Given the description of an element on the screen output the (x, y) to click on. 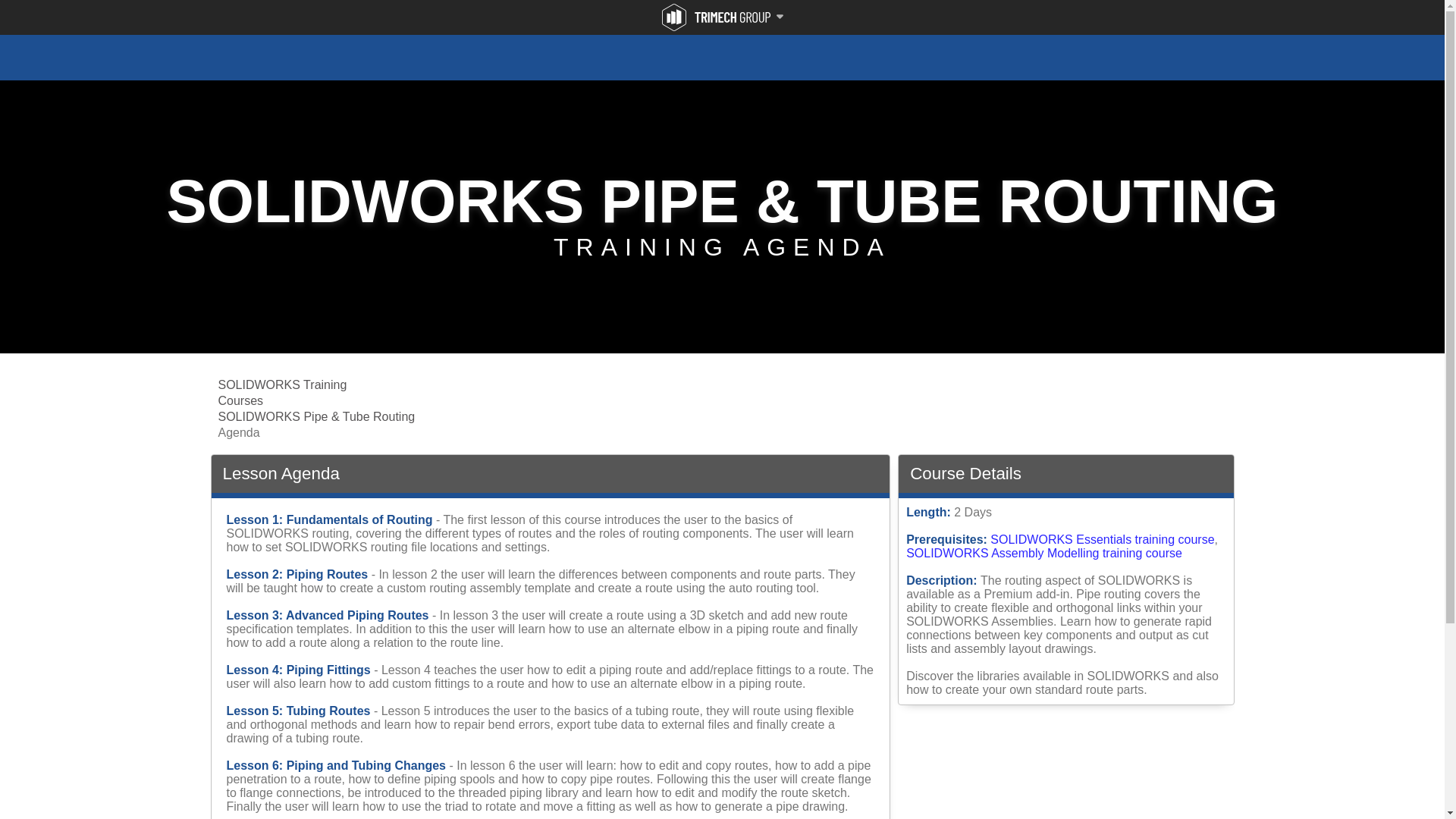
SOLIDWORKS Assembly Modelling training course (1043, 553)
SOLIDWORKS Essentials training course (1102, 539)
